Given the description of an element on the screen output the (x, y) to click on. 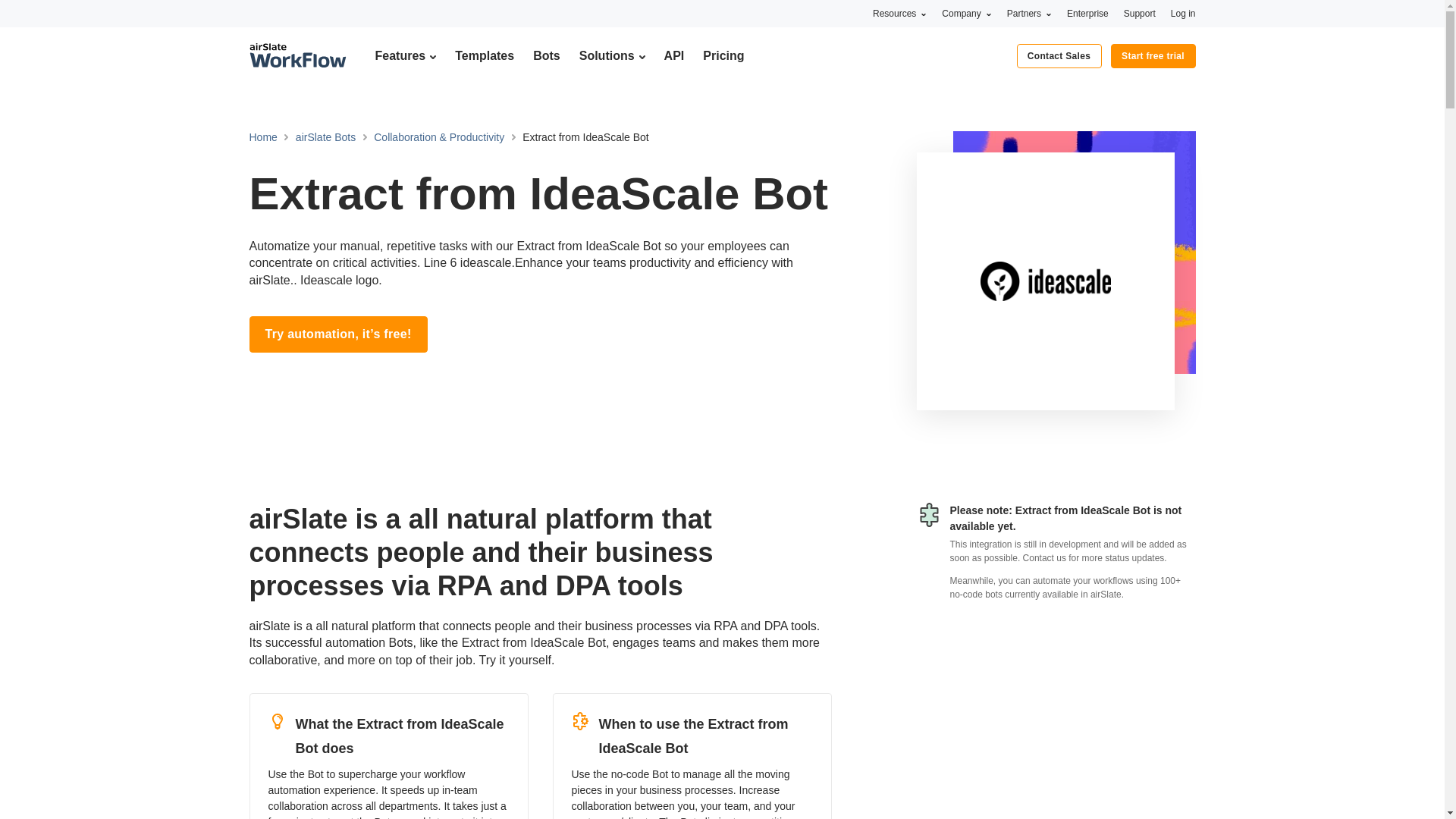
Enterprise (1087, 13)
Partners (1029, 13)
Support (1140, 13)
Resources (899, 13)
Templates (483, 55)
Company (966, 13)
Log in (1182, 13)
